Given the description of an element on the screen output the (x, y) to click on. 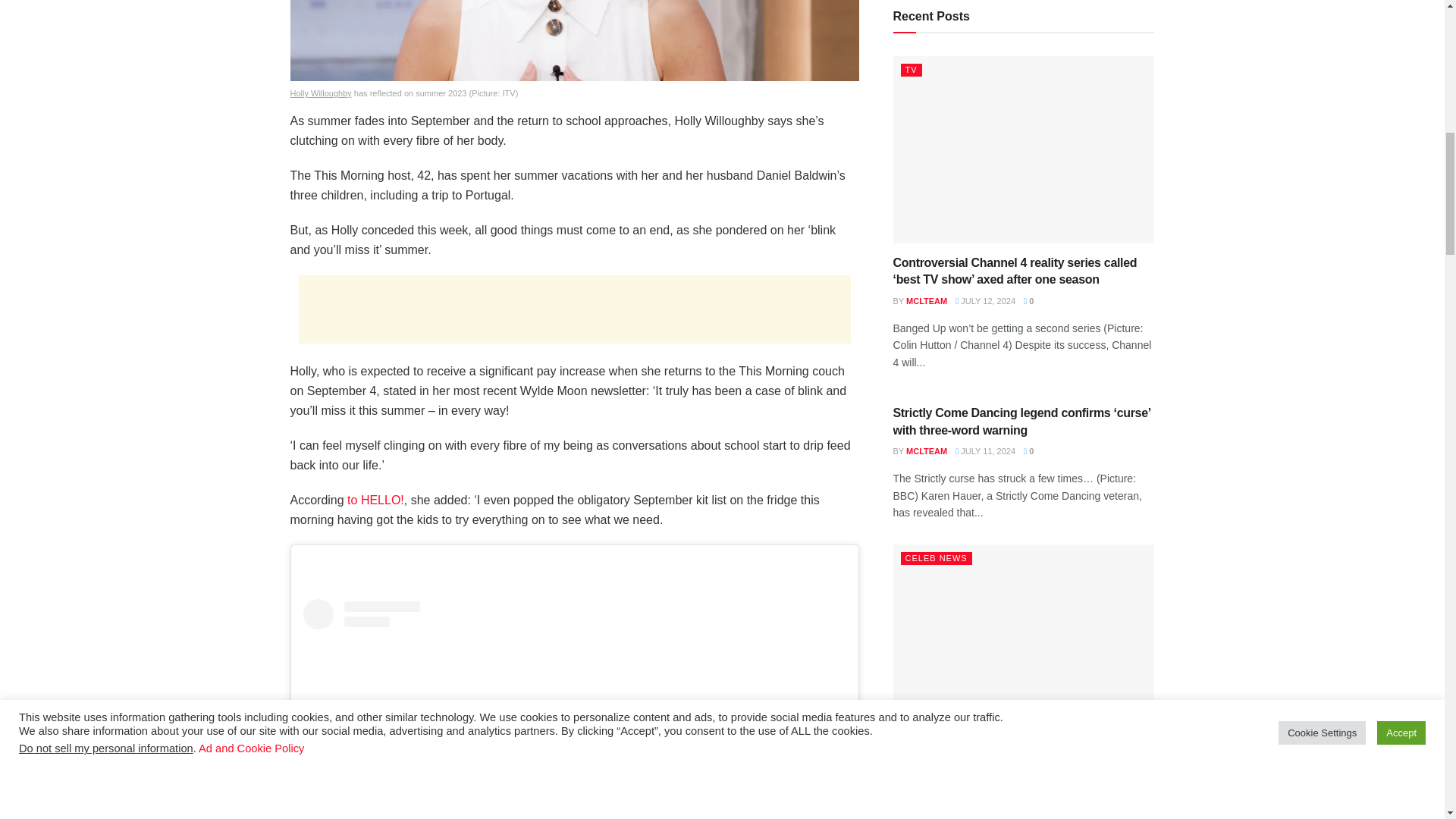
holly willoughby (319, 92)
Advertisement (574, 309)
